Given the description of an element on the screen output the (x, y) to click on. 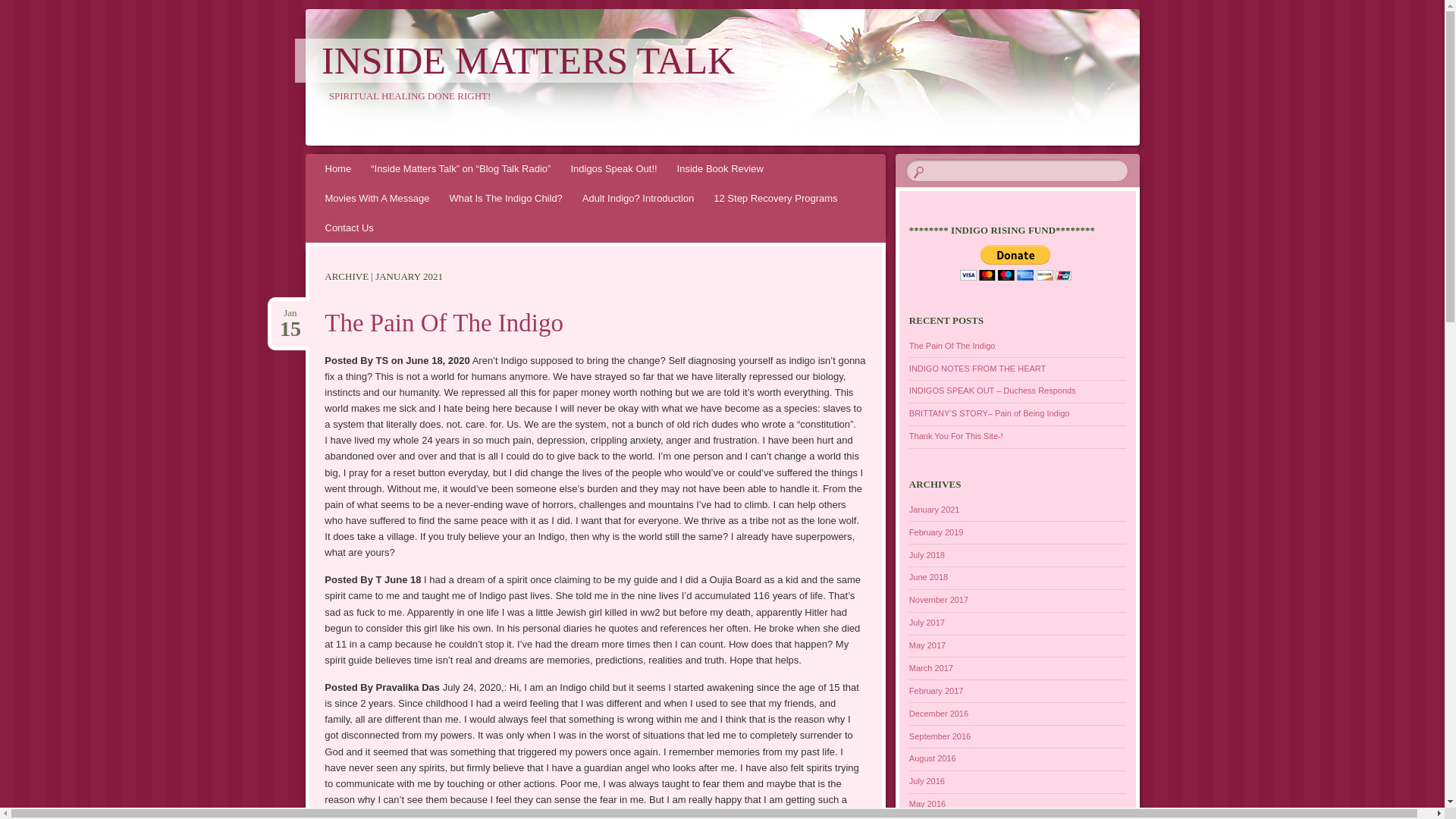
Inside Matters Talk (528, 60)
January 15, 2021 (289, 313)
Adult Indigo? Introduction (637, 197)
What Is The Indigo Child? (505, 197)
Movies With A Message (377, 197)
INSIDE MATTERS TALK (528, 60)
Home (338, 168)
Indigos Speak Out!! (613, 168)
Inside Book Review (719, 168)
